Given the description of an element on the screen output the (x, y) to click on. 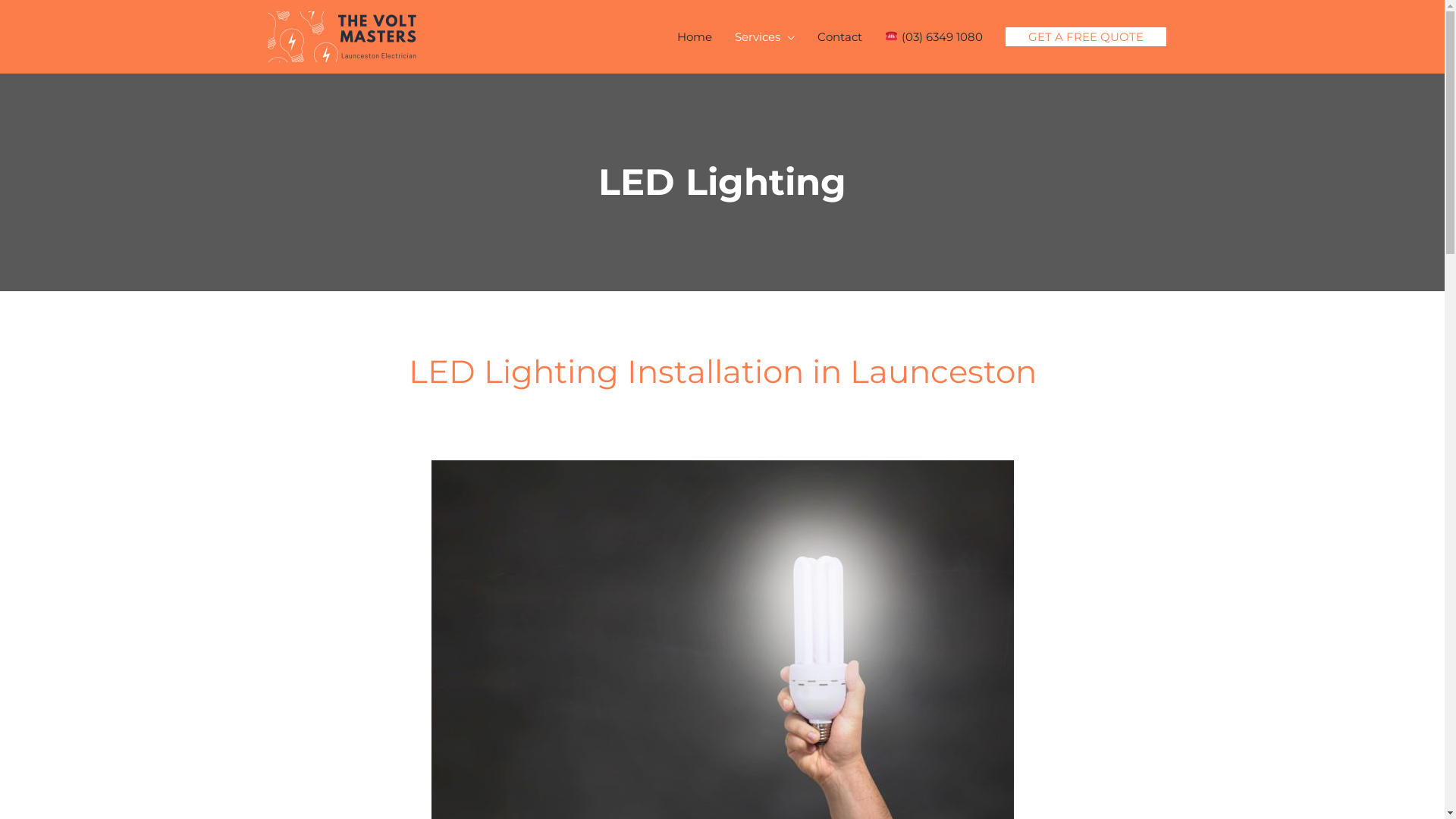
Contact Element type: text (839, 36)
(03) 6349 1080 Element type: text (933, 36)
GET A FREE QUOTE Element type: text (1085, 36)
Services Element type: text (764, 36)
Home Element type: text (694, 36)
